Given the description of an element on the screen output the (x, y) to click on. 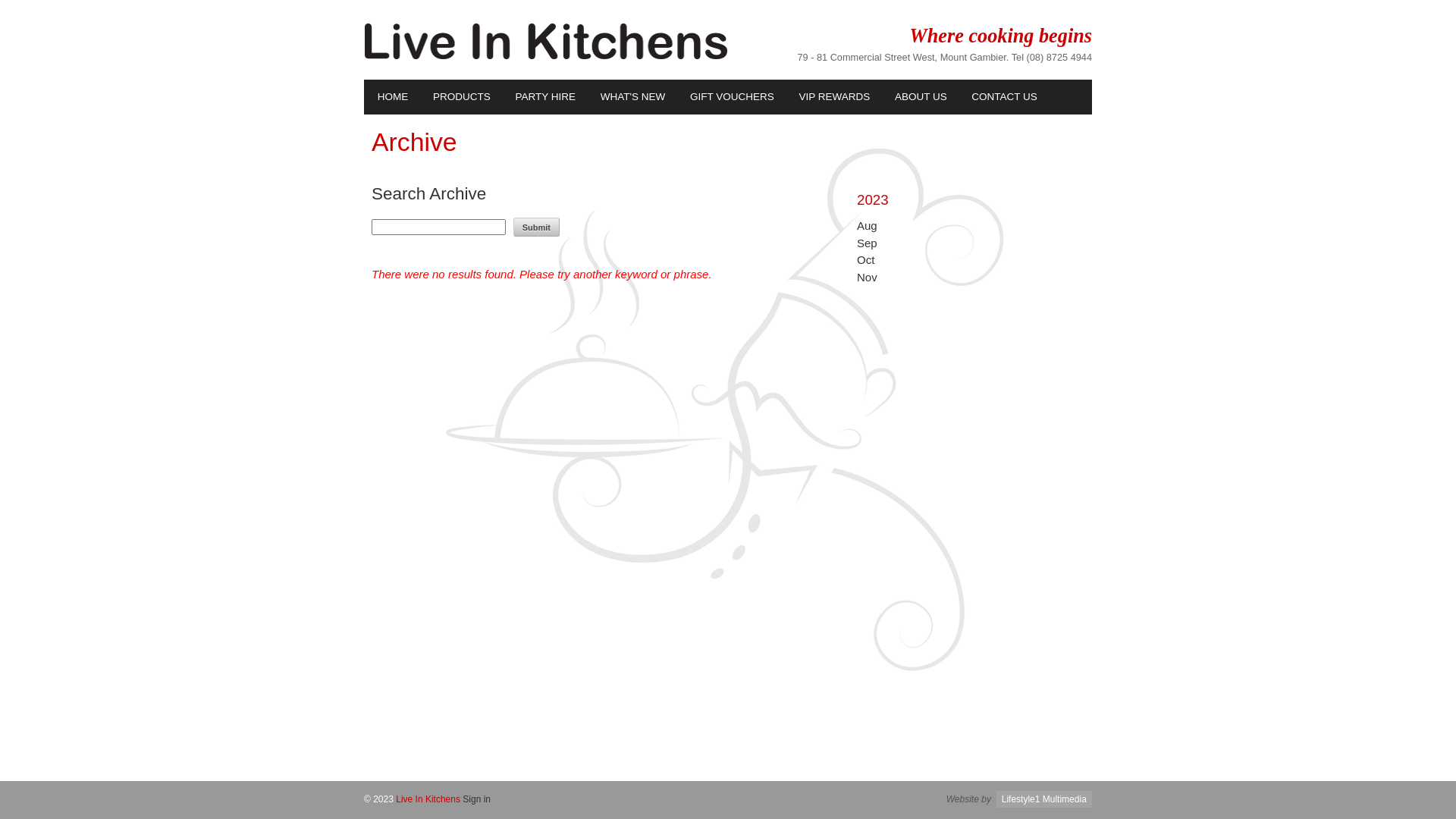
Sep Element type: text (866, 242)
Oct Element type: text (865, 259)
Live In Kitchens Element type: text (427, 798)
PRODUCTS Element type: text (460, 97)
Sign in Element type: text (476, 798)
VIP REWARDS Element type: text (833, 97)
WHAT'S NEW Element type: text (631, 97)
Live In Kitchens Mount Gambier Element type: hover (546, 40)
ABOUT US Element type: text (919, 97)
Lifestyle1 Multimedia Element type: text (1044, 798)
Submit Element type: text (536, 226)
GIFT VOUCHERS Element type: text (730, 97)
PARTY HIRE Element type: text (544, 97)
CONTACT US Element type: text (1003, 97)
HOME Element type: text (391, 97)
liveinkitchens Element type: hover (546, 55)
Nov Element type: text (866, 276)
Aug Element type: text (866, 225)
